Given the description of an element on the screen output the (x, y) to click on. 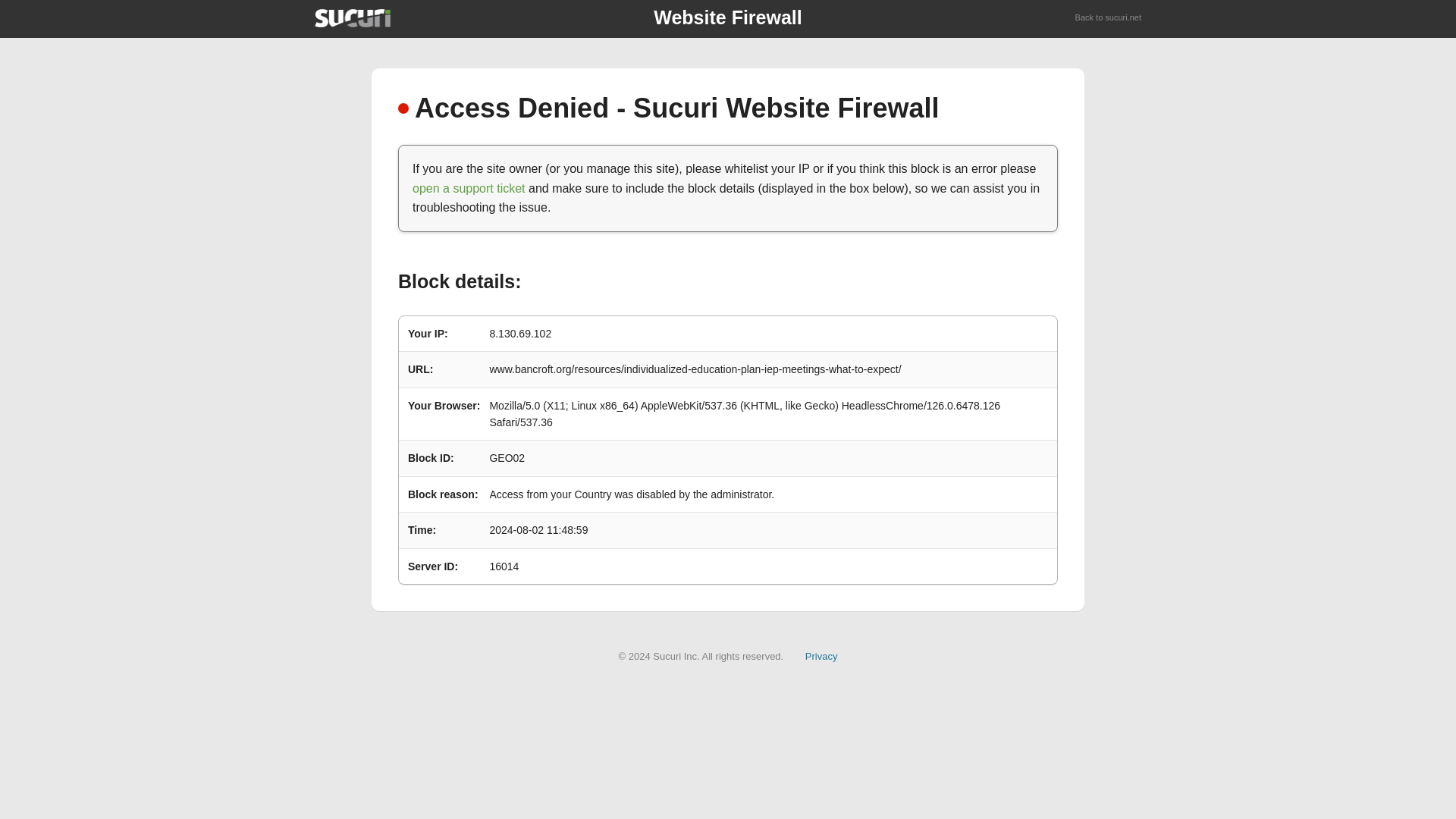
open a support ticket (468, 187)
Back to sucuri.net (1108, 18)
Privacy (821, 655)
